Given the description of an element on the screen output the (x, y) to click on. 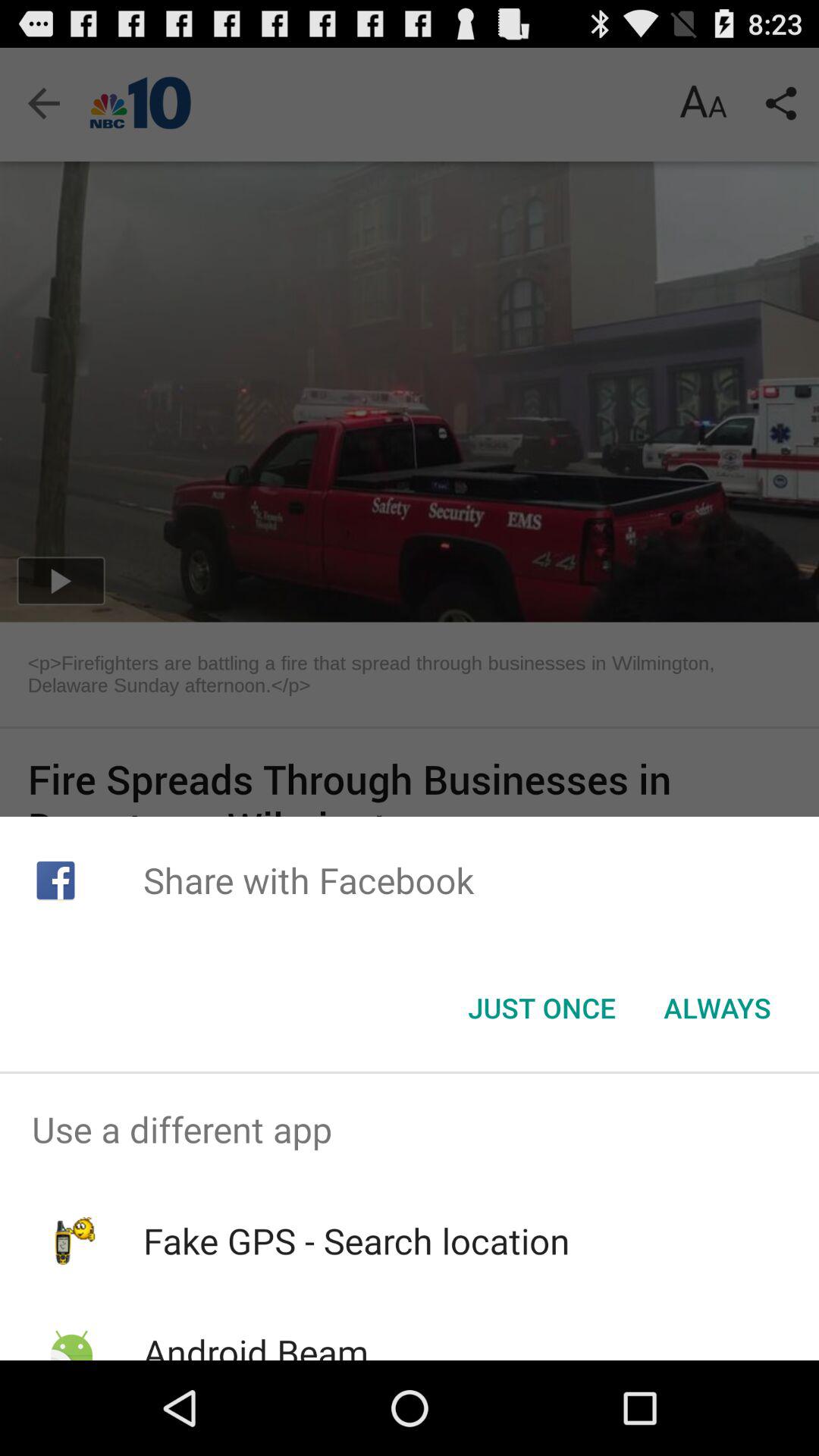
flip until use a different icon (409, 1129)
